Given the description of an element on the screen output the (x, y) to click on. 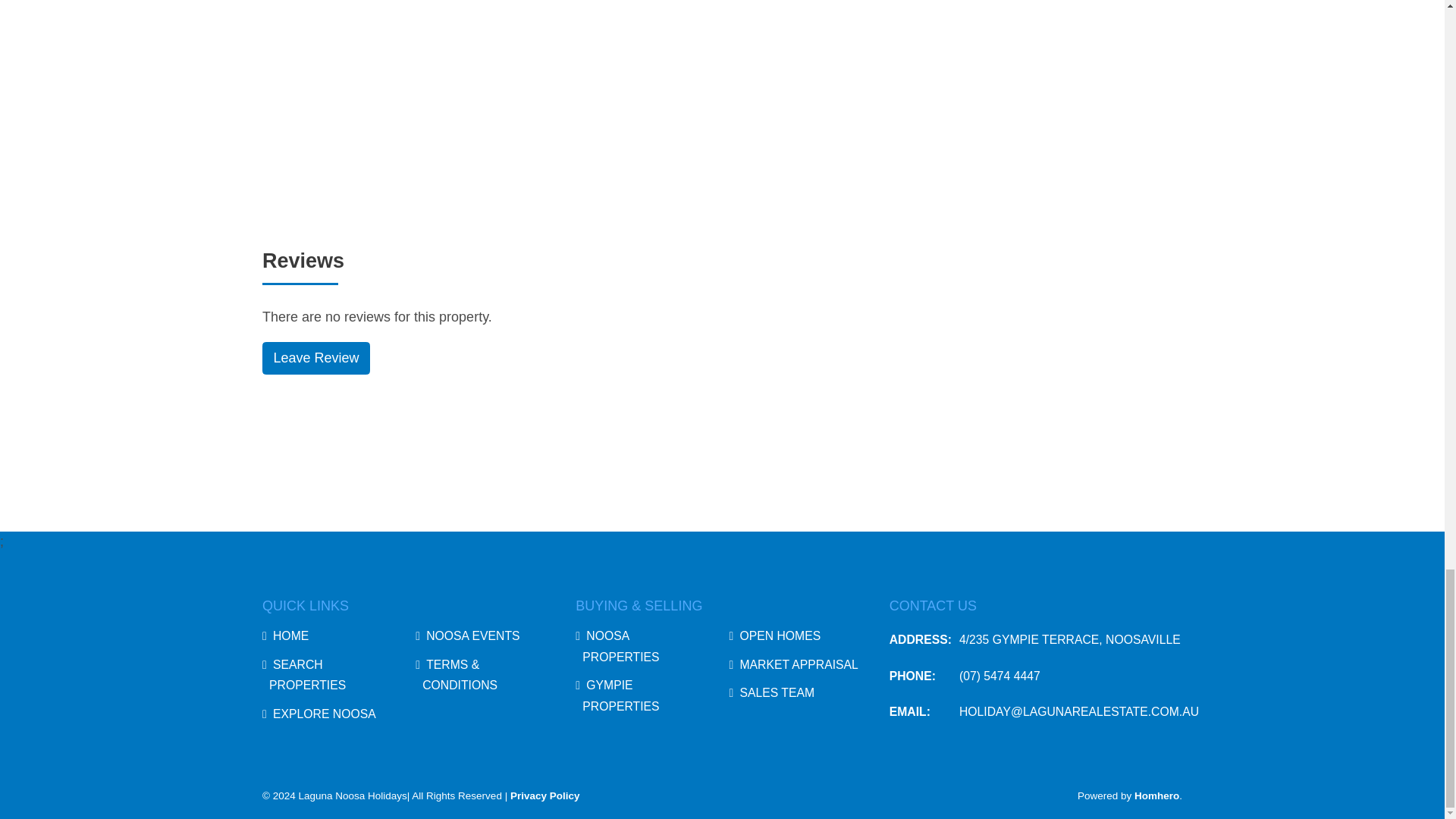
Leave Review (315, 358)
